Given the description of an element on the screen output the (x, y) to click on. 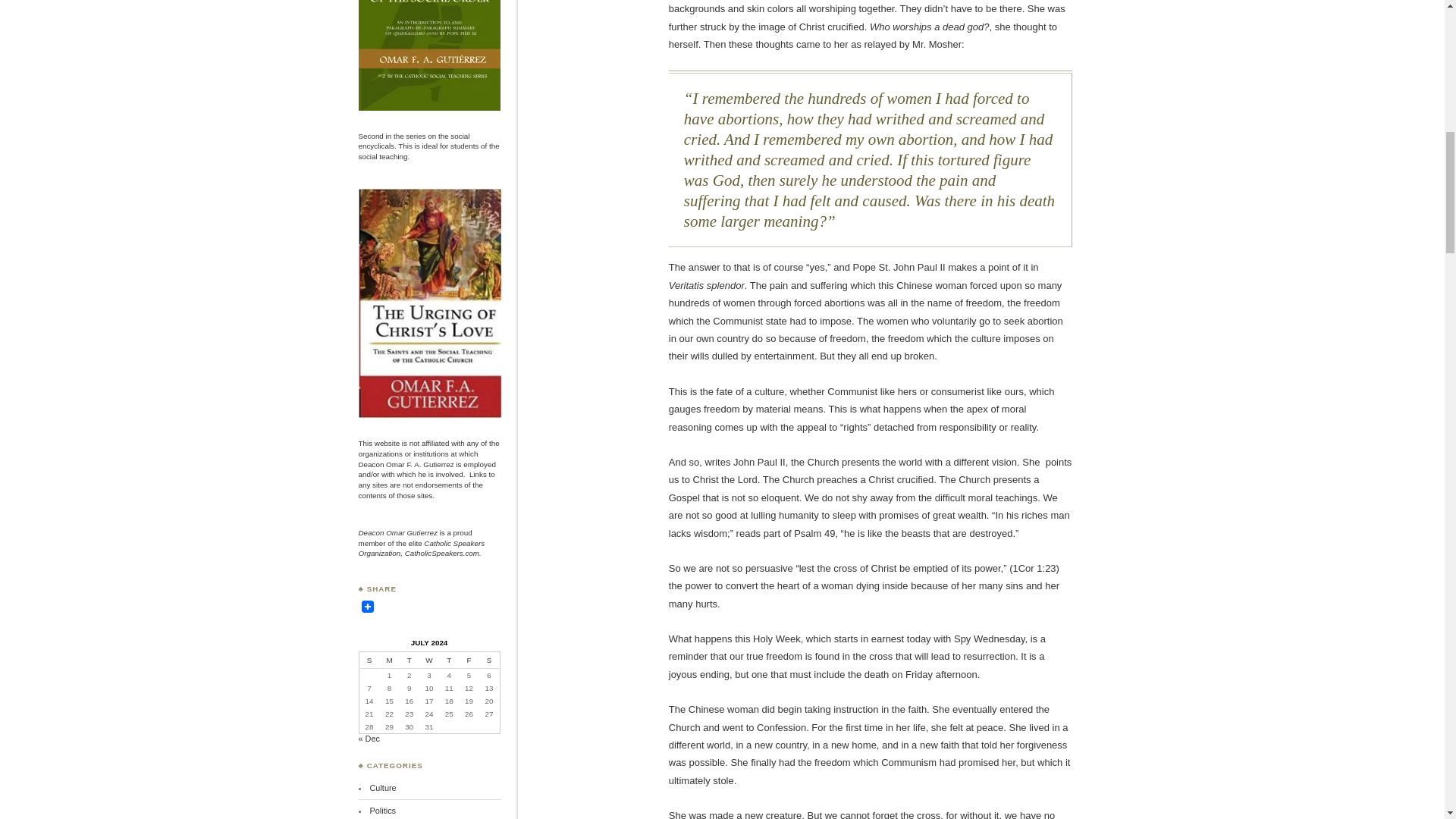
Culture (382, 787)
Monday (388, 659)
Thursday (448, 659)
Sunday (368, 659)
Wednesday (429, 659)
Politics (382, 809)
Tuesday (408, 659)
Catholic Speakers Organization, CatholicSpeakers.com (421, 547)
